Given the description of an element on the screen output the (x, y) to click on. 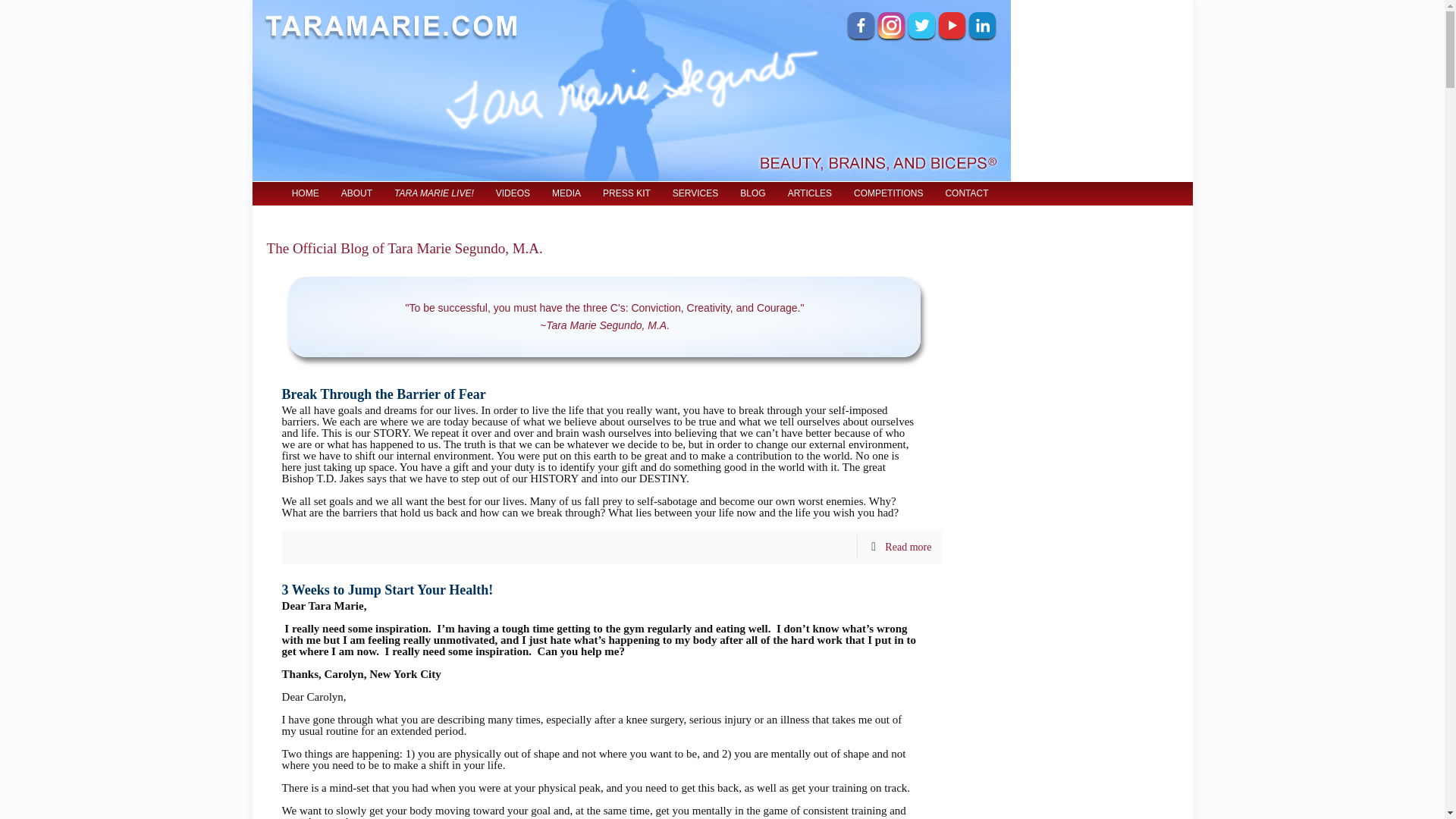
ABOUT (357, 193)
VIDEOS (512, 193)
ARTICLES (810, 193)
COMPETITIONS (888, 193)
MEDIA (566, 193)
PRESS KIT (627, 193)
TARA MARIE LIVE! (434, 193)
HOME (305, 193)
SERVICES (695, 193)
BLOG (752, 193)
CONTACT (966, 193)
